Given the description of an element on the screen output the (x, y) to click on. 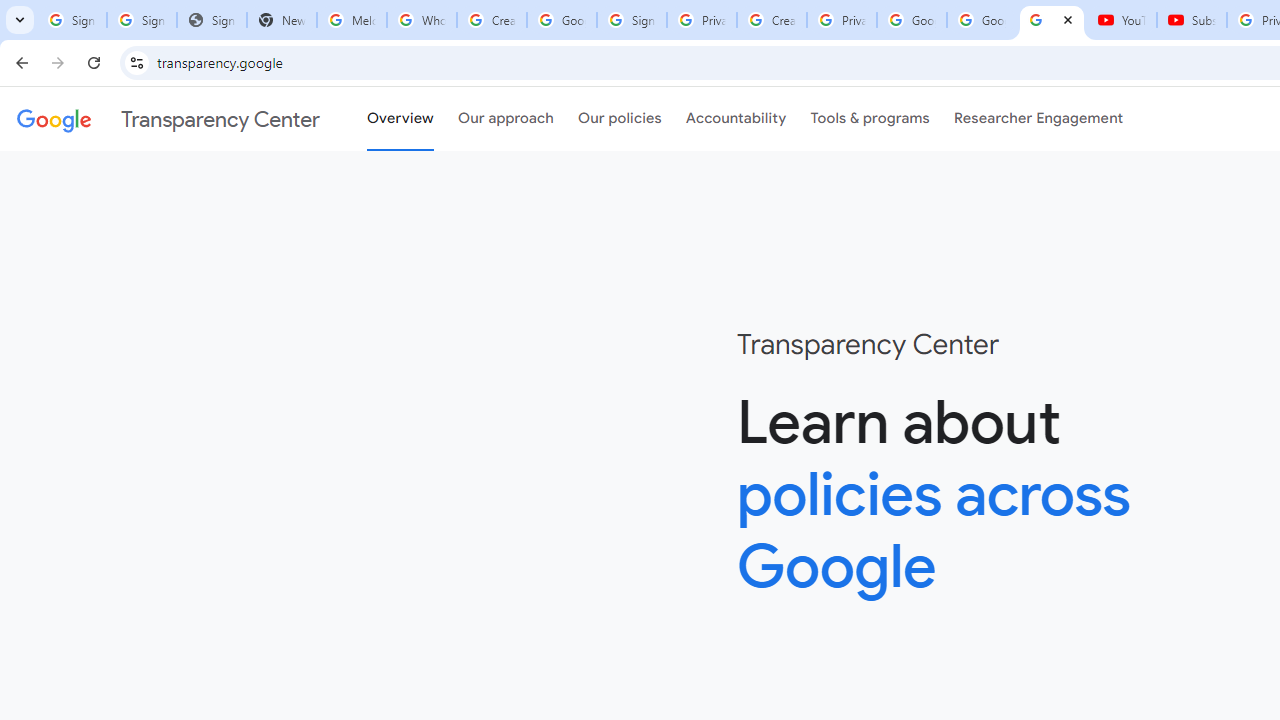
Create your Google Account (772, 20)
Sign In - USA TODAY (211, 20)
Subscriptions - YouTube (1192, 20)
Create your Google Account (492, 20)
Sign in - Google Accounts (141, 20)
Who is my administrator? - Google Account Help (421, 20)
Our approach (506, 119)
Google Account (982, 20)
